Given the description of an element on the screen output the (x, y) to click on. 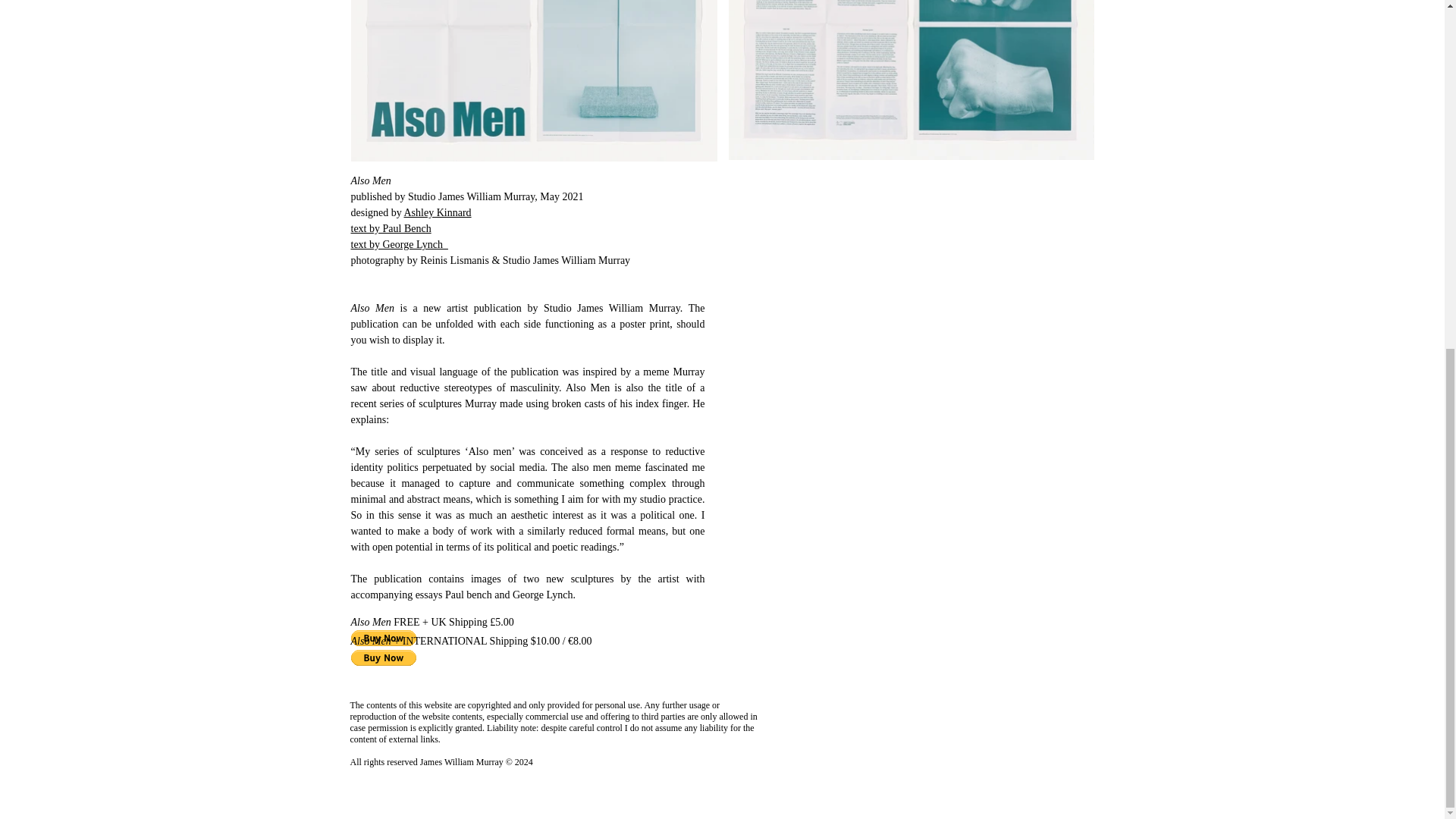
text by Paul Bench (390, 228)
text by George Lynch   (398, 244)
Ashley Kinnard (436, 212)
